Given the description of an element on the screen output the (x, y) to click on. 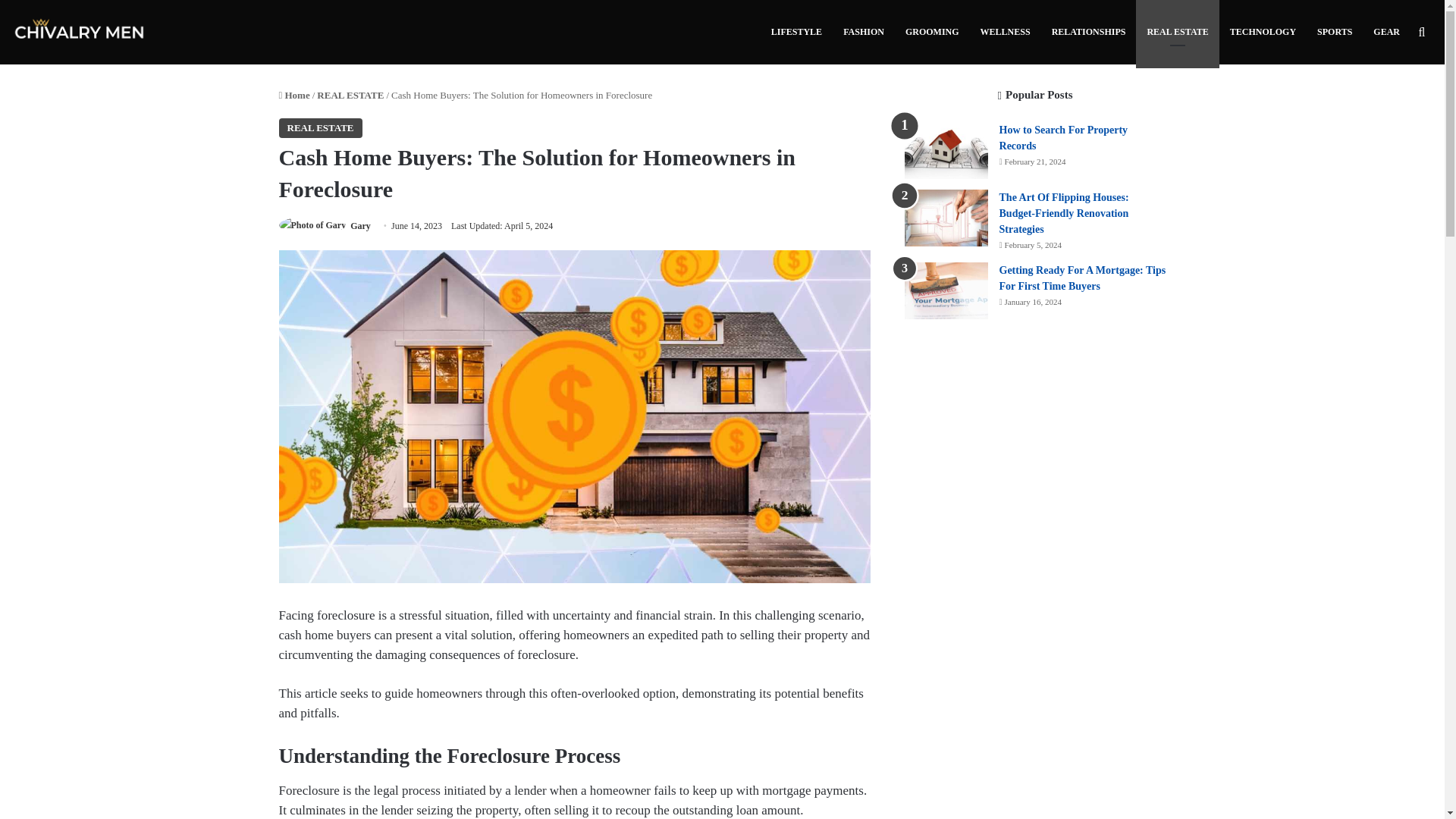
RELATIONSHIPS (1089, 32)
Gary (360, 225)
Chivalry Men (79, 32)
FASHION (863, 32)
GROOMING (932, 32)
How to Search For Property Records (1063, 137)
Home (294, 94)
Gary (360, 225)
TECHNOLOGY (1263, 32)
REAL ESTATE (320, 127)
WELLNESS (1005, 32)
REAL ESTATE (350, 94)
REAL ESTATE (1176, 32)
LIFESTYLE (796, 32)
